Given the description of an element on the screen output the (x, y) to click on. 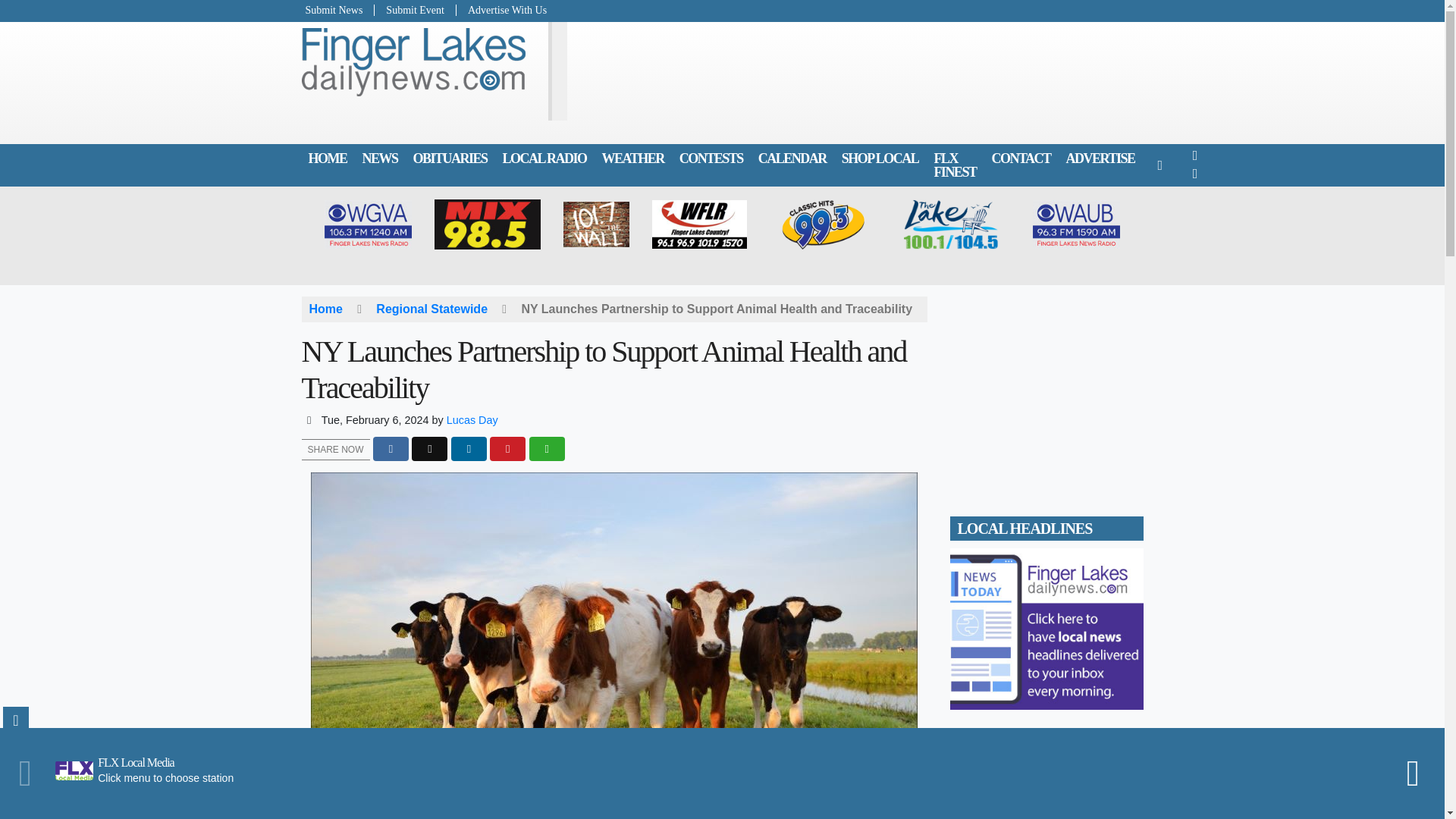
Follow us on Facebook (1194, 155)
Submit News (338, 9)
Posts by Lucas Day (471, 419)
Advertise With Us (502, 9)
Follow us on X (1194, 173)
Submit Event (415, 9)
